Given the description of an element on the screen output the (x, y) to click on. 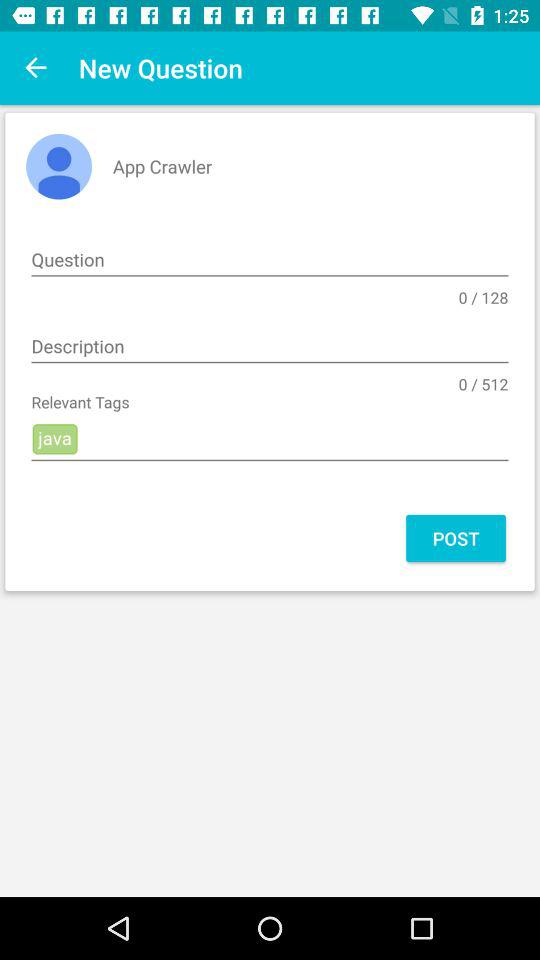
enter question (269, 260)
